Given the description of an element on the screen output the (x, y) to click on. 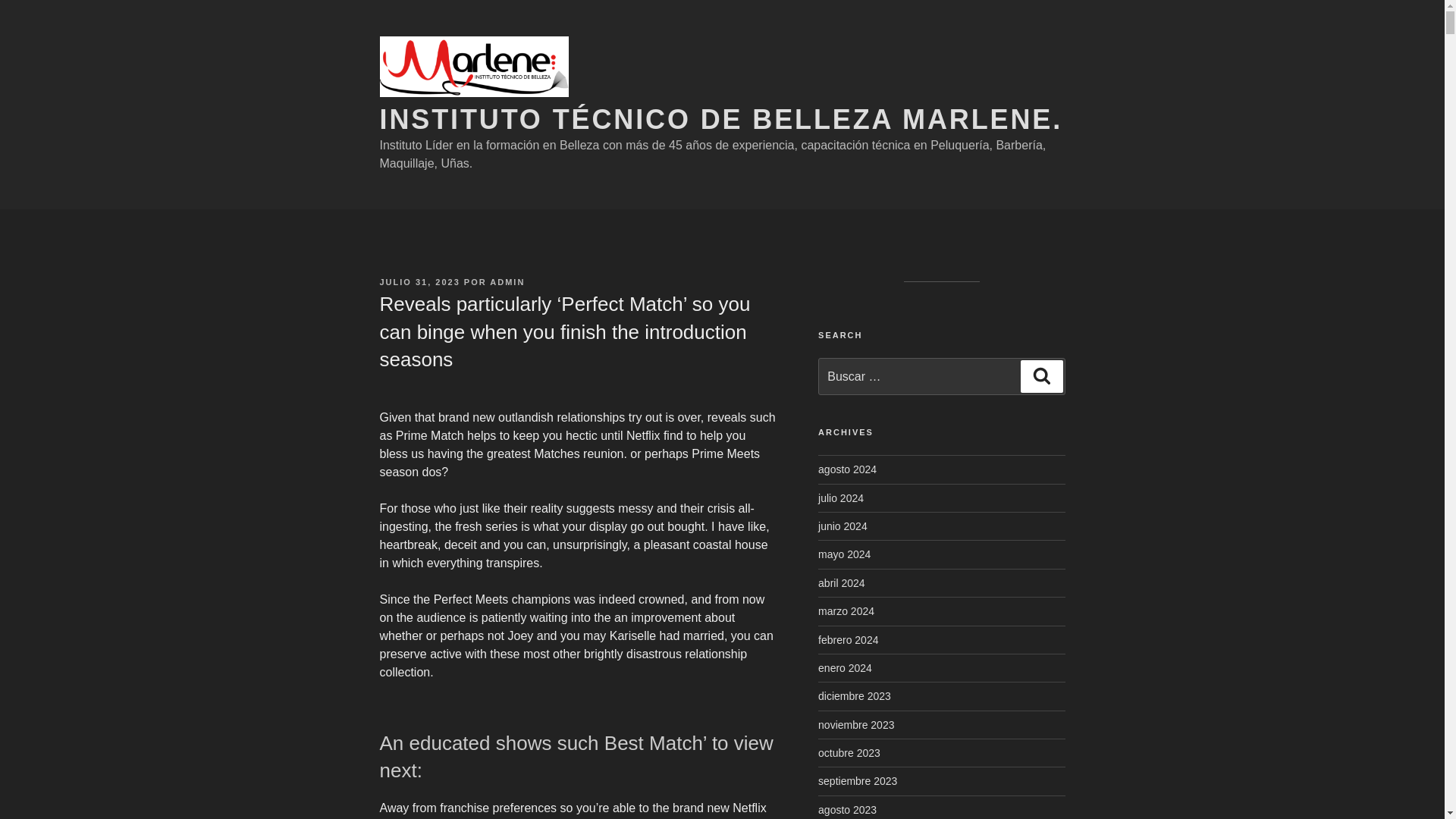
febrero 2024 (847, 639)
diciembre 2023 (854, 695)
agosto 2023 (847, 809)
mayo 2024 (844, 553)
abril 2024 (841, 582)
junio 2024 (842, 526)
julio 2024 (840, 498)
ADMIN (506, 281)
Buscar (1041, 376)
agosto 2024 (847, 469)
